Given the description of an element on the screen output the (x, y) to click on. 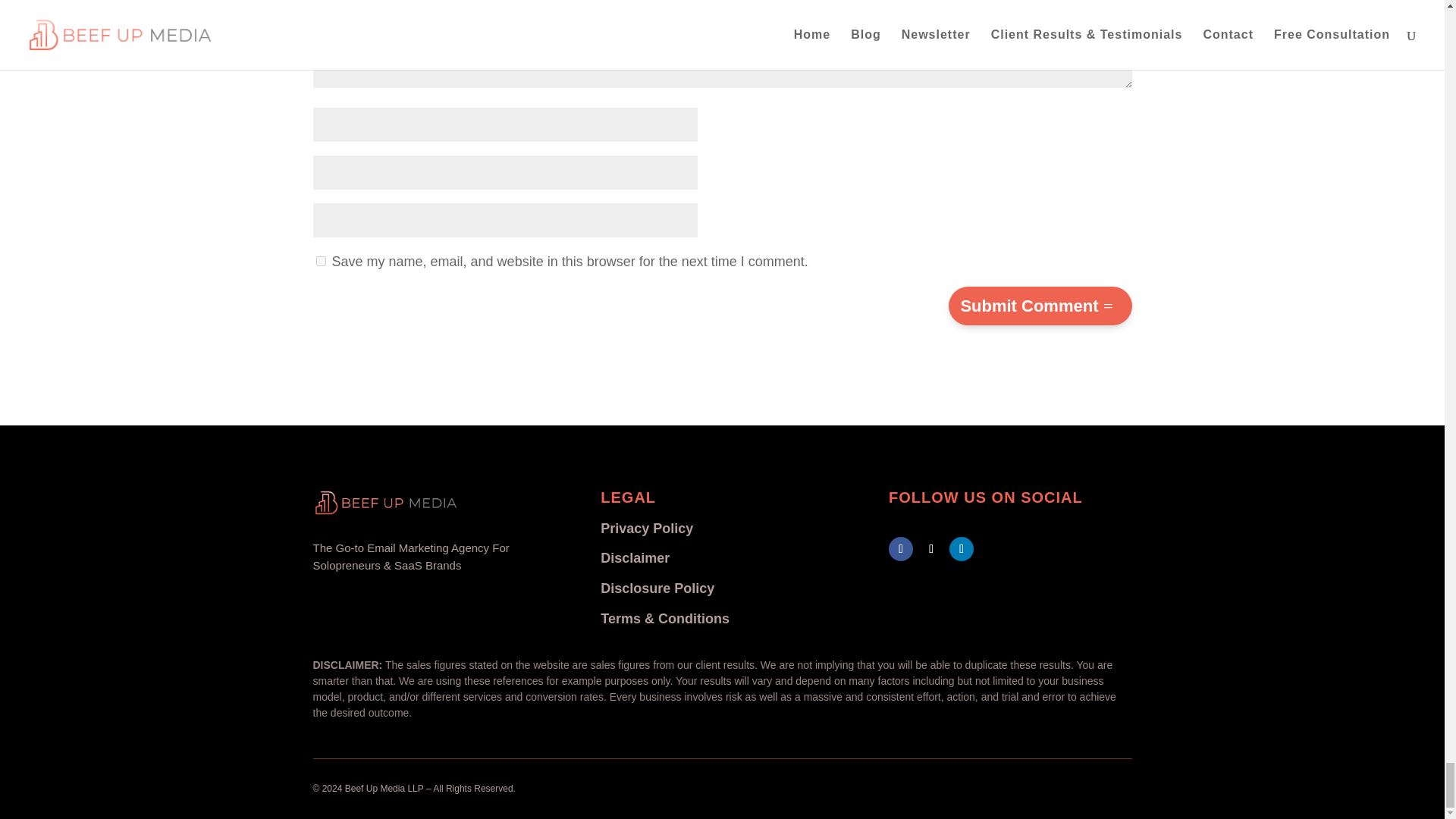
yes (319, 261)
